Given the description of an element on the screen output the (x, y) to click on. 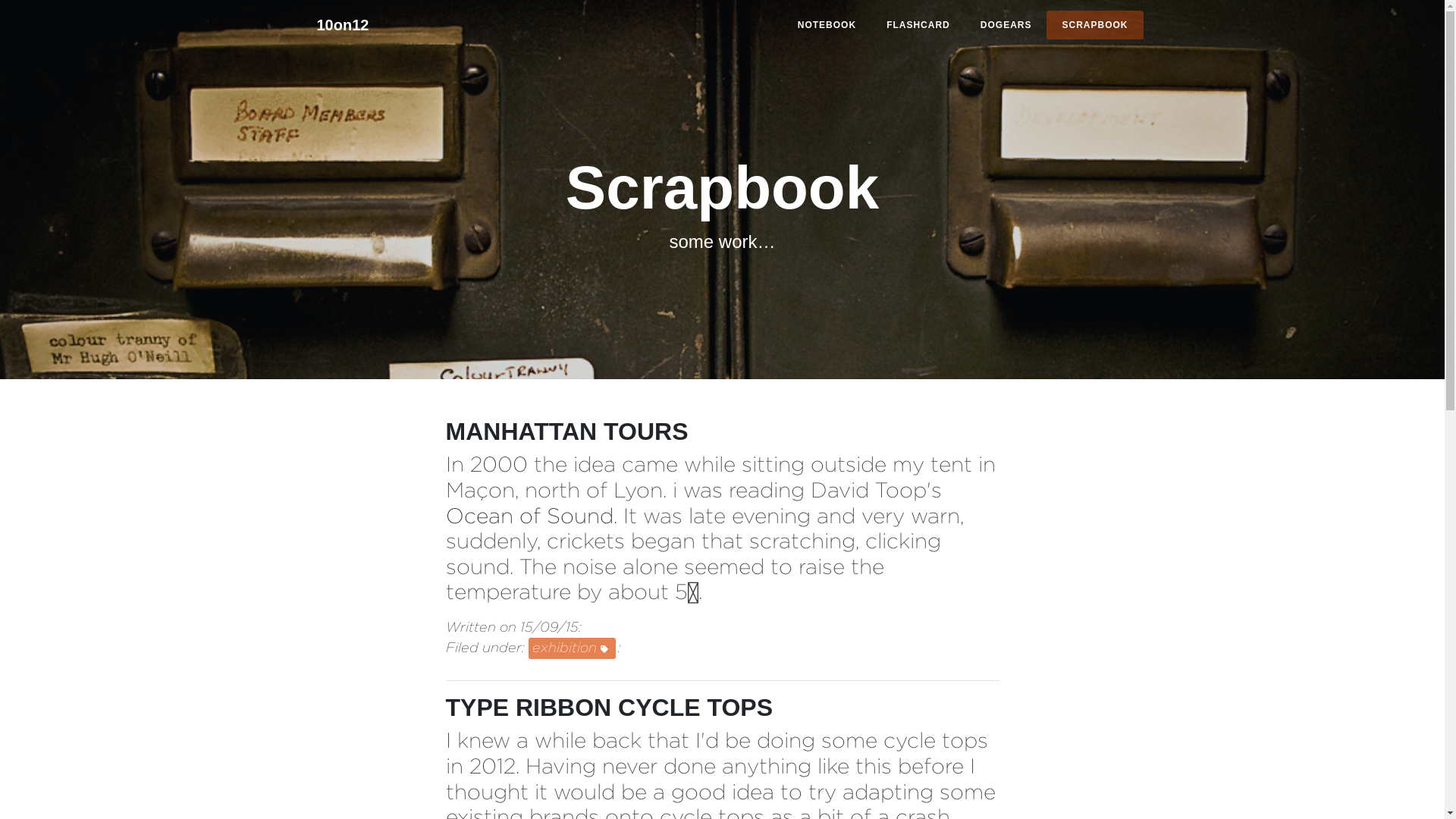
NOTEBOOK Element type: text (826, 24)
FLASHCARD Element type: text (918, 24)
Ocean of Sound Element type: text (529, 515)
MANHATTAN TOURS Element type: text (566, 431)
SCRAPBOOK Element type: text (1094, 24)
DOGEARS Element type: text (1006, 24)
exhibition Element type: text (571, 647)
TYPE RIBBON CYCLE TOPS Element type: text (608, 707)
10on12 Element type: text (342, 24)
